Given the description of an element on the screen output the (x, y) to click on. 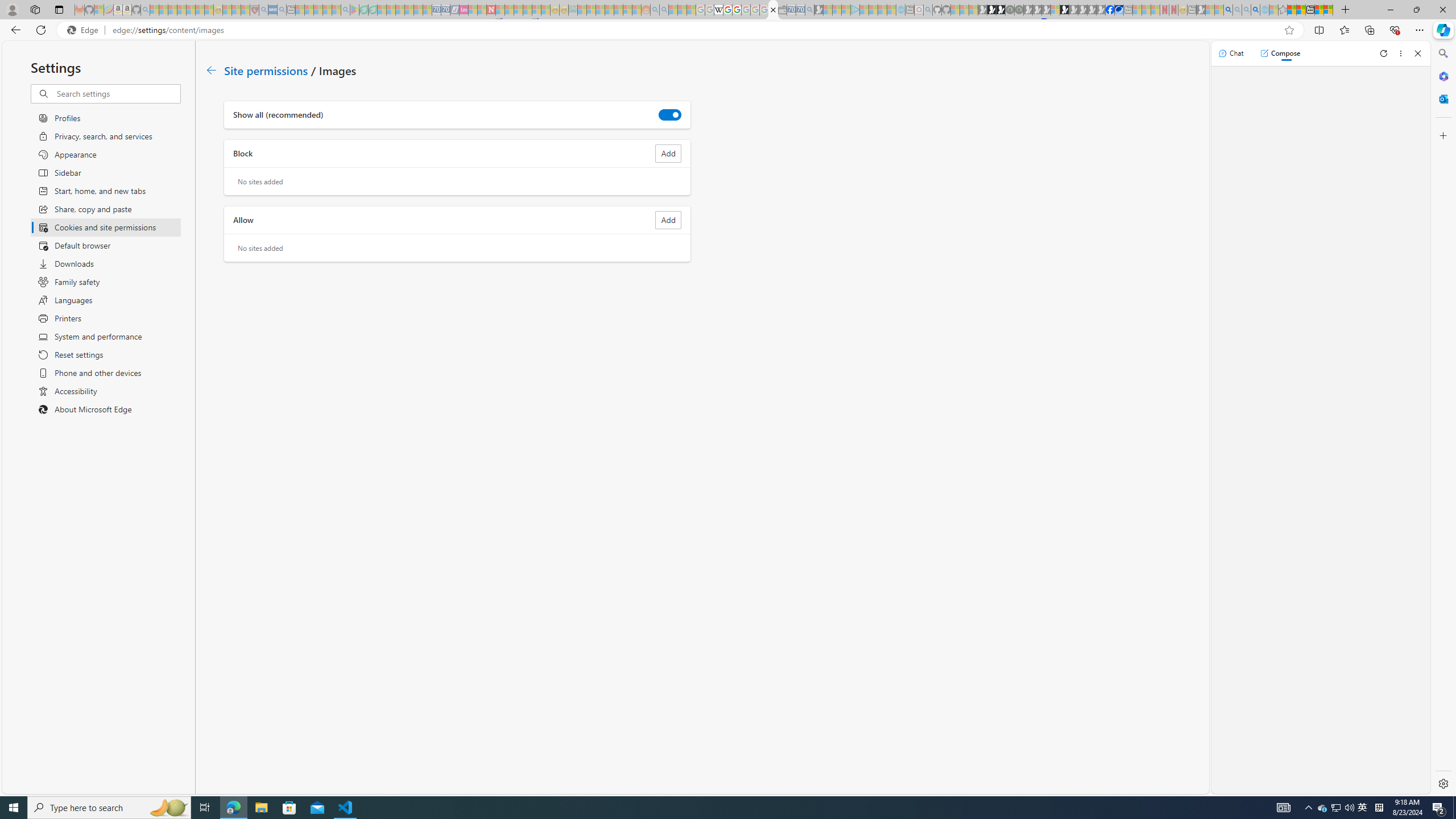
Site permissions (266, 69)
